Given the description of an element on the screen output the (x, y) to click on. 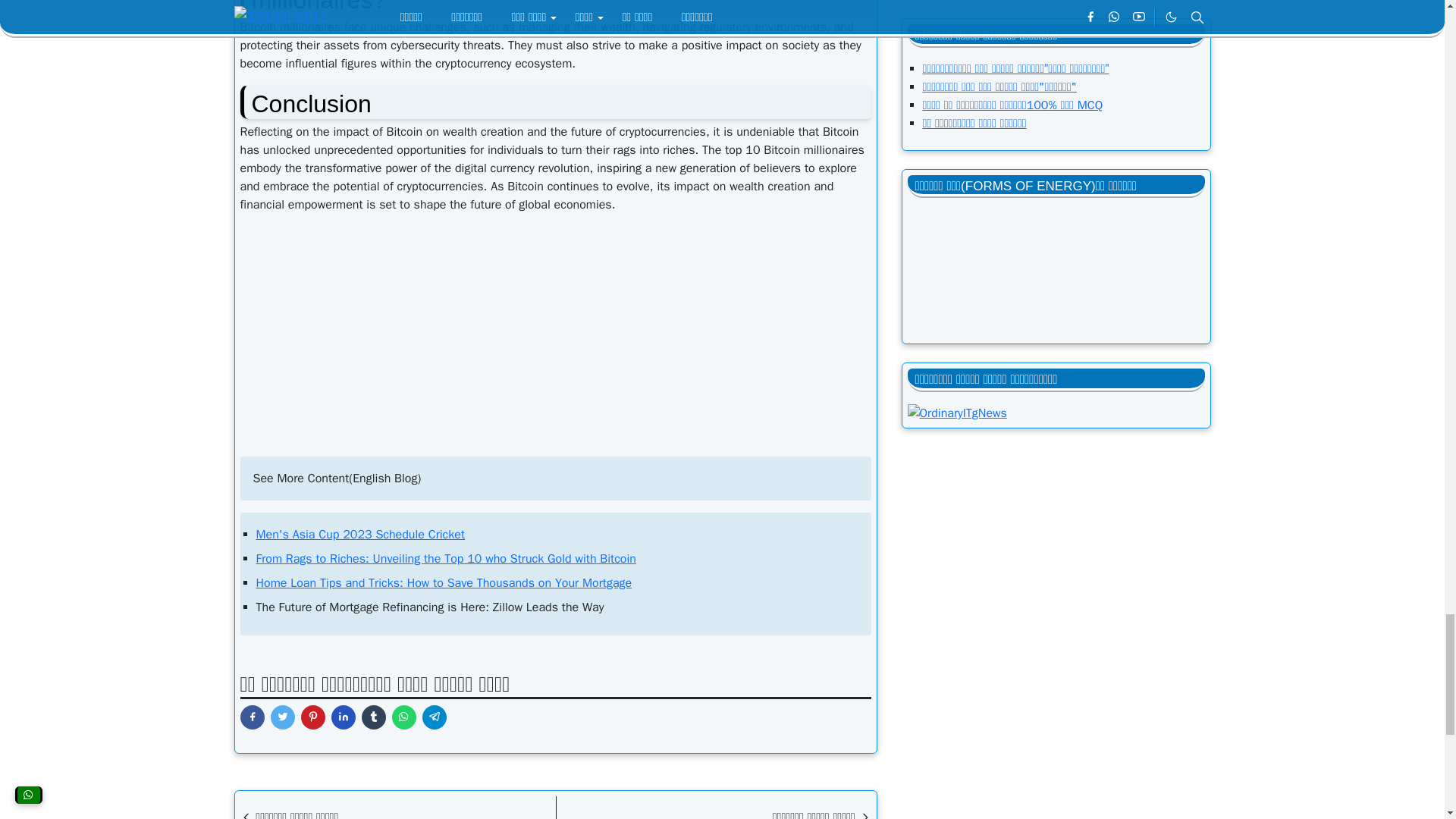
Pin It (311, 717)
Share to telegram (433, 717)
Tweet This (281, 717)
Tumblr Share (373, 717)
Facebook Share (251, 717)
Share to whatsapp (402, 717)
Linkedin Share (342, 717)
